Given the description of an element on the screen output the (x, y) to click on. 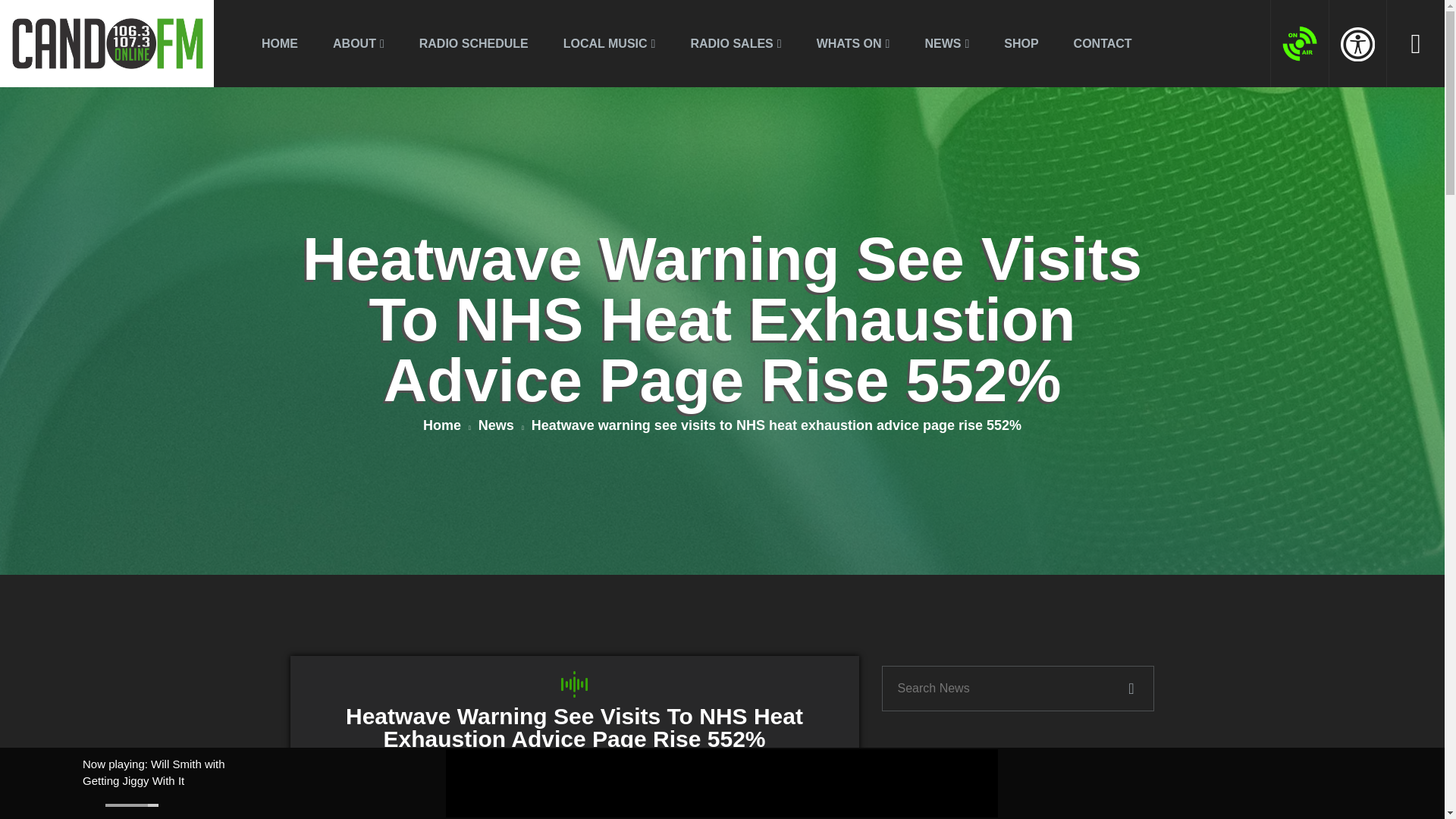
Twitter (1431, 802)
Create New Account (1300, 94)
Facebook (1431, 782)
News (501, 426)
RADIO SCHEDULE (473, 42)
HOME (279, 42)
WHATS ON (852, 42)
Home (446, 426)
LogIn Account (1235, 97)
